Given the description of an element on the screen output the (x, y) to click on. 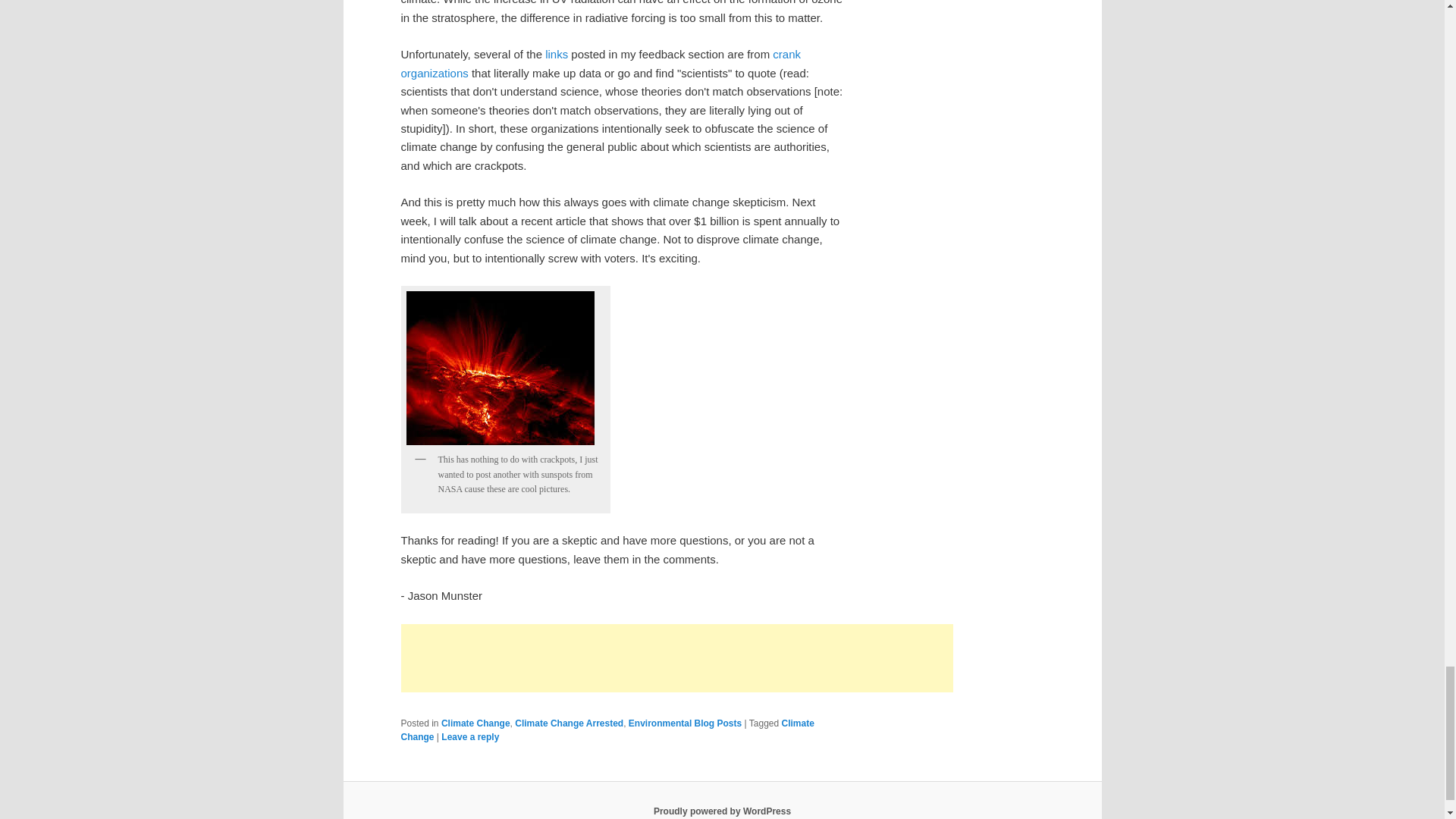
Environmental Blog Posts (684, 723)
Climate Change Arrested (569, 723)
Climate Change (476, 723)
 links (554, 53)
crank organizations (600, 62)
Leave a reply (470, 737)
Climate Change (606, 730)
Semantic Personal Publishing Platform (721, 810)
